Given the description of an element on the screen output the (x, y) to click on. 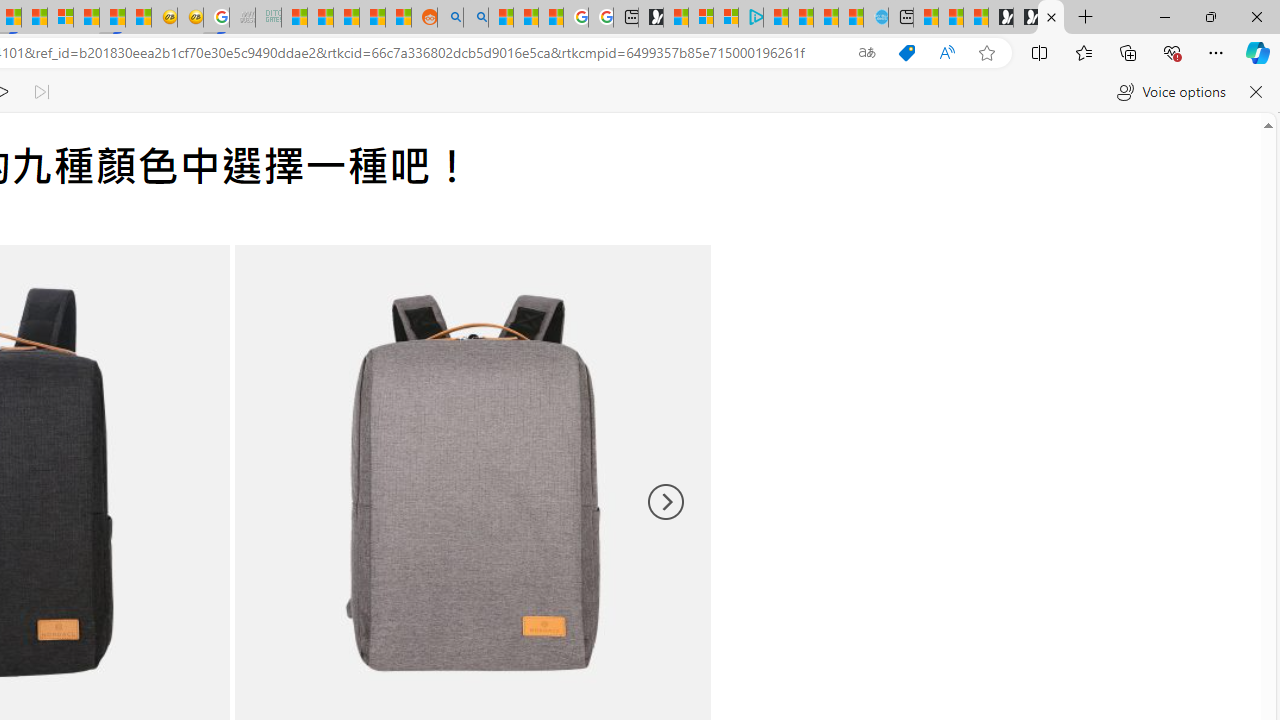
Close (1256, 16)
DITOGAMES AG Imprint - Sleeping (268, 17)
Navy Quest (242, 17)
